Given the description of an element on the screen output the (x, y) to click on. 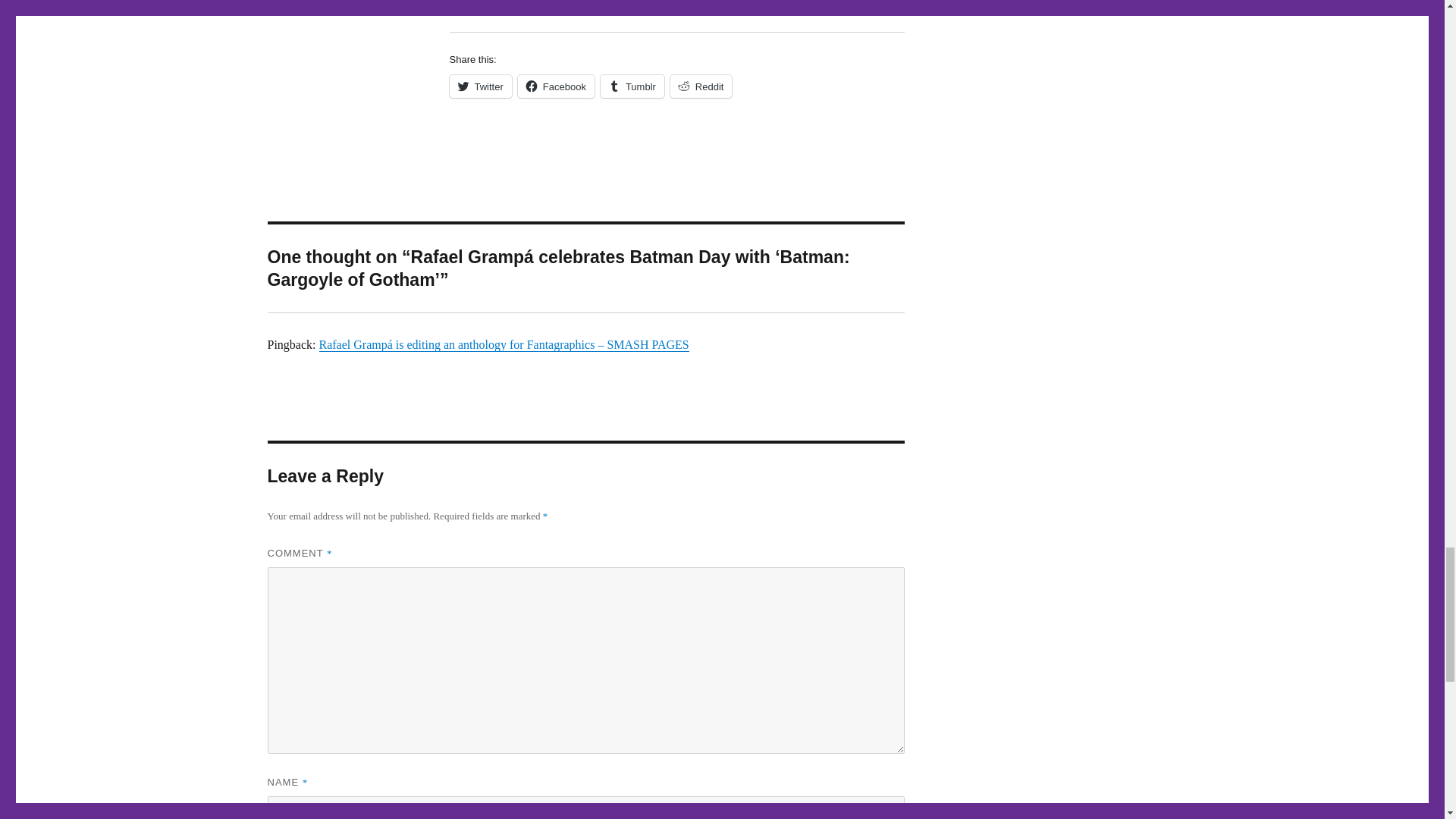
Click to share on Reddit (700, 86)
Facebook (556, 86)
Click to share on Tumblr (631, 86)
Reddit (700, 86)
Click to share on Twitter (479, 86)
Tumblr (631, 86)
Twitter (479, 86)
Click to share on Facebook (556, 86)
